Given the description of an element on the screen output the (x, y) to click on. 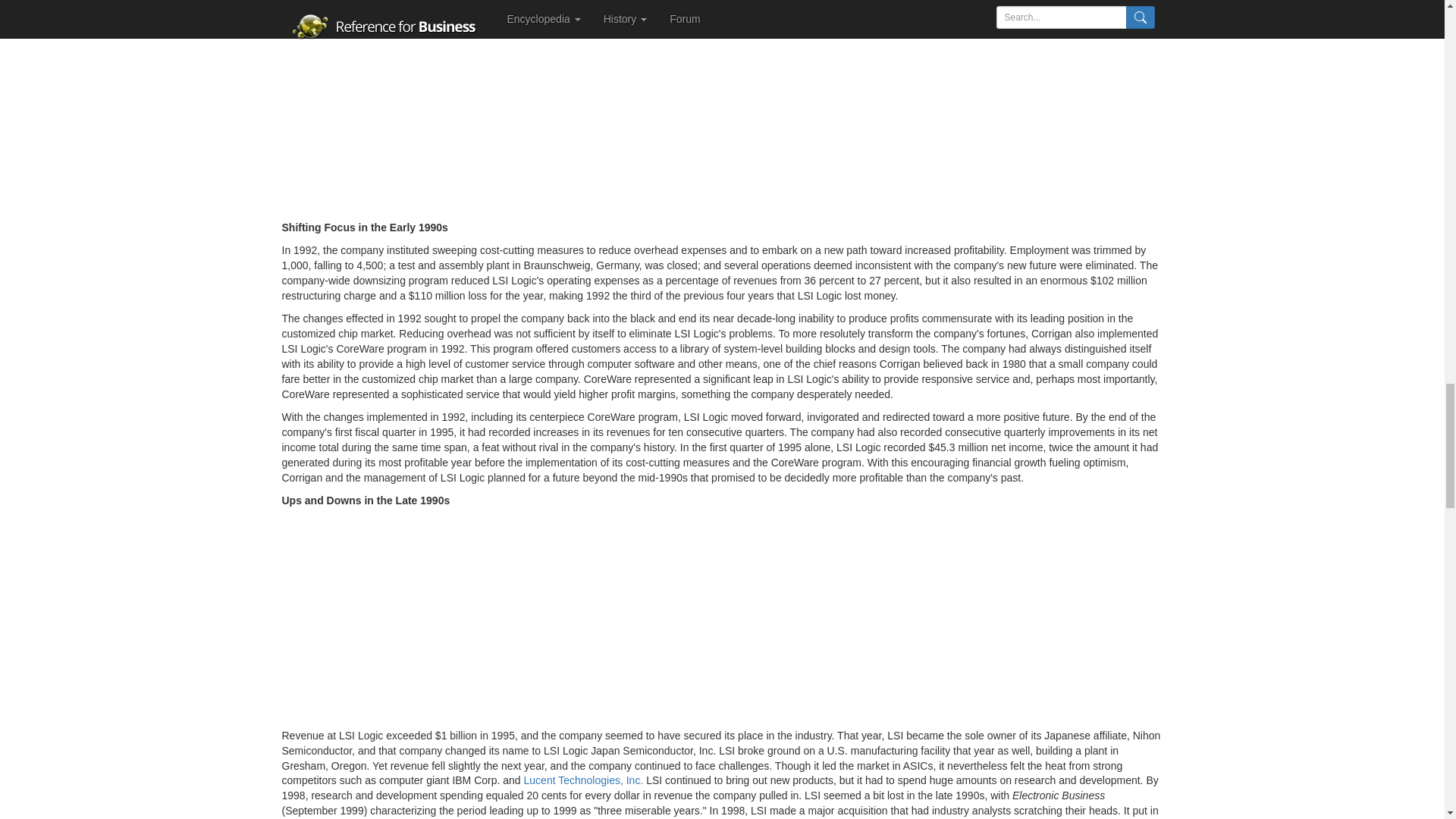
Lucent Technologies, Inc. (583, 779)
View 'lucent technologies, inc.' definition from Wikipedia (583, 779)
